Given the description of an element on the screen output the (x, y) to click on. 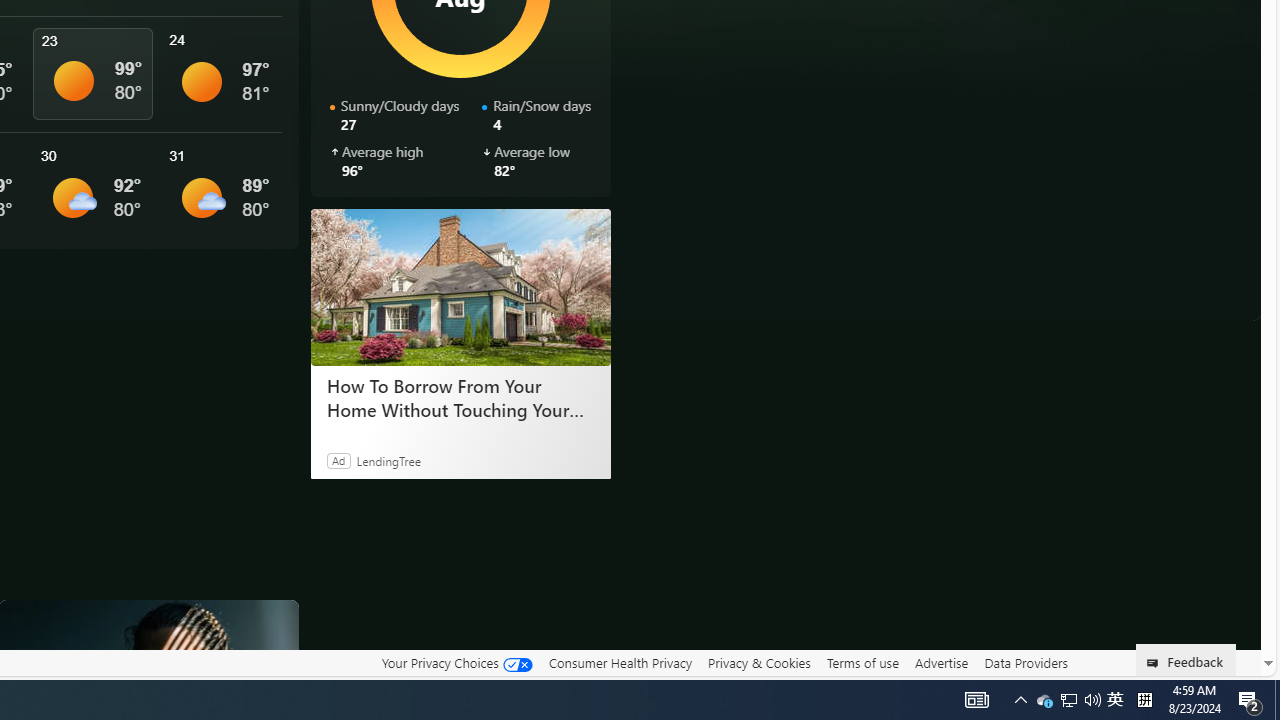
Data Providers (1025, 663)
LendingTree (388, 460)
Consumer Health Privacy (619, 663)
Your Privacy Choices (456, 662)
Privacy & Cookies (759, 663)
Class: feedback_link_icon-DS-EntryPoint1-1 (1156, 663)
How To Borrow From Your Home Without Touching Your Mortgage (459, 286)
Consumer Health Privacy (619, 662)
